Given the description of an element on the screen output the (x, y) to click on. 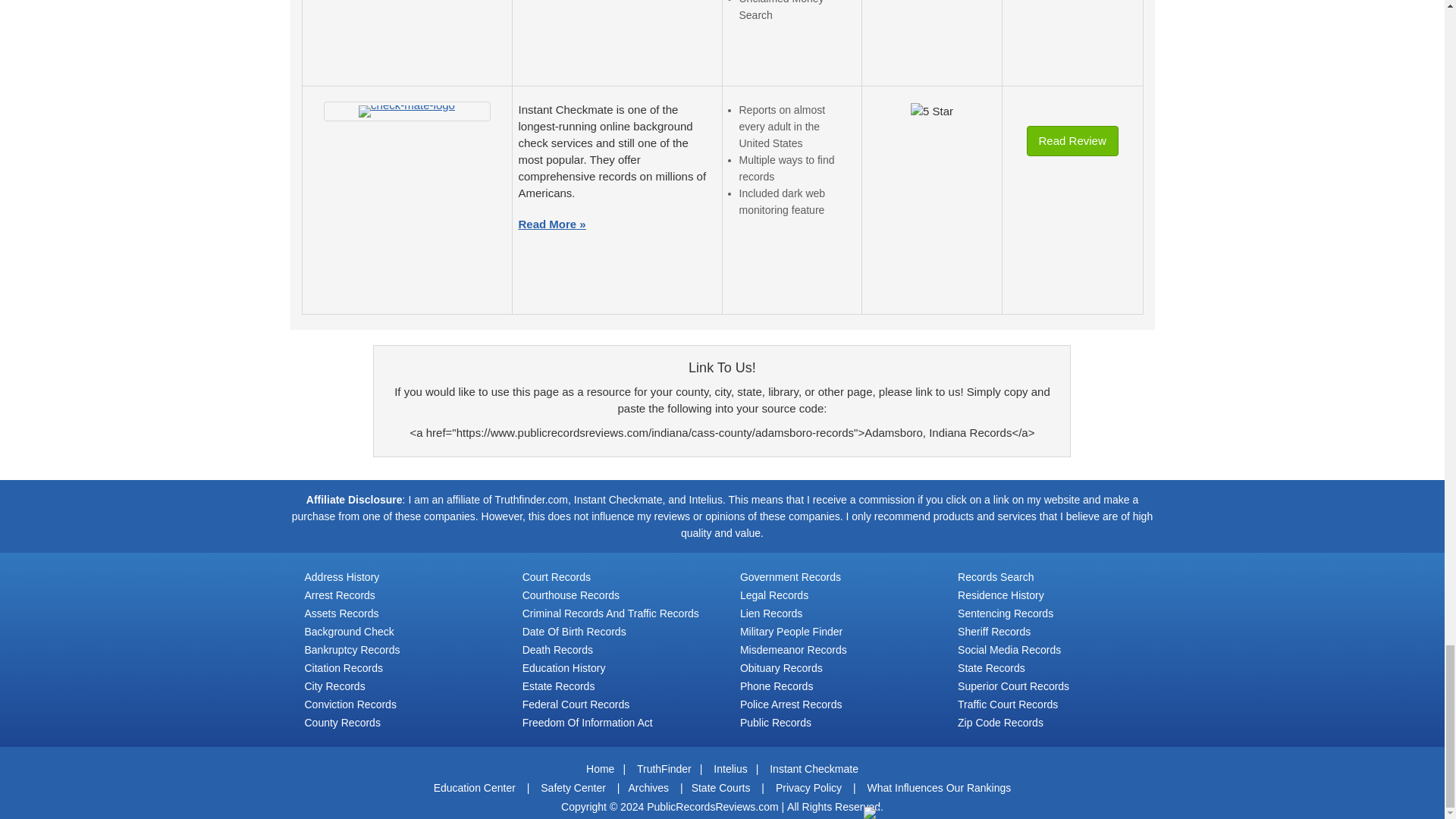
Instant Checkmate (406, 111)
